Given the description of an element on the screen output the (x, y) to click on. 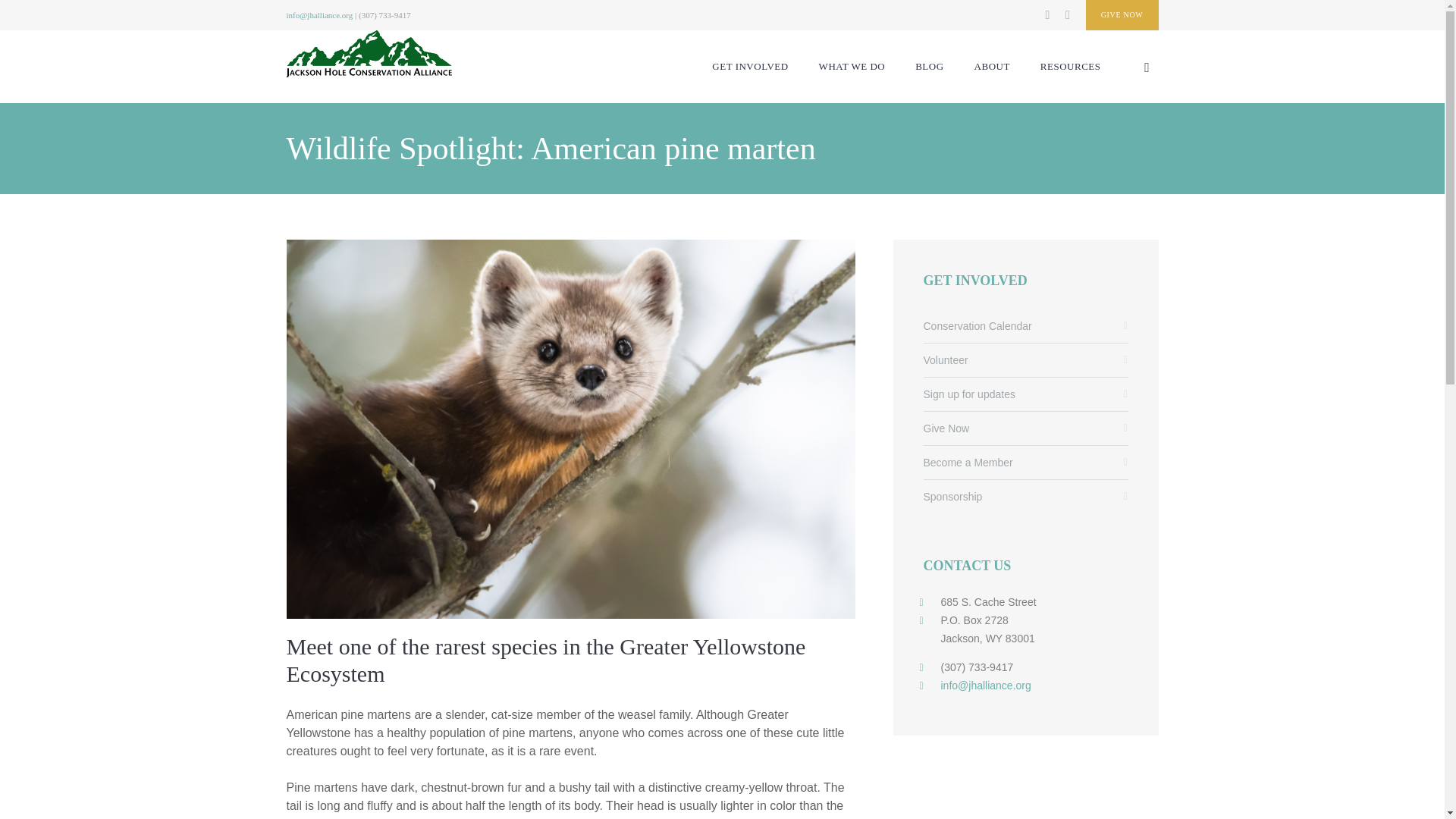
WHAT WE DO (852, 66)
GIVE NOW (1122, 15)
GET INVOLVED (749, 66)
